Given the description of an element on the screen output the (x, y) to click on. 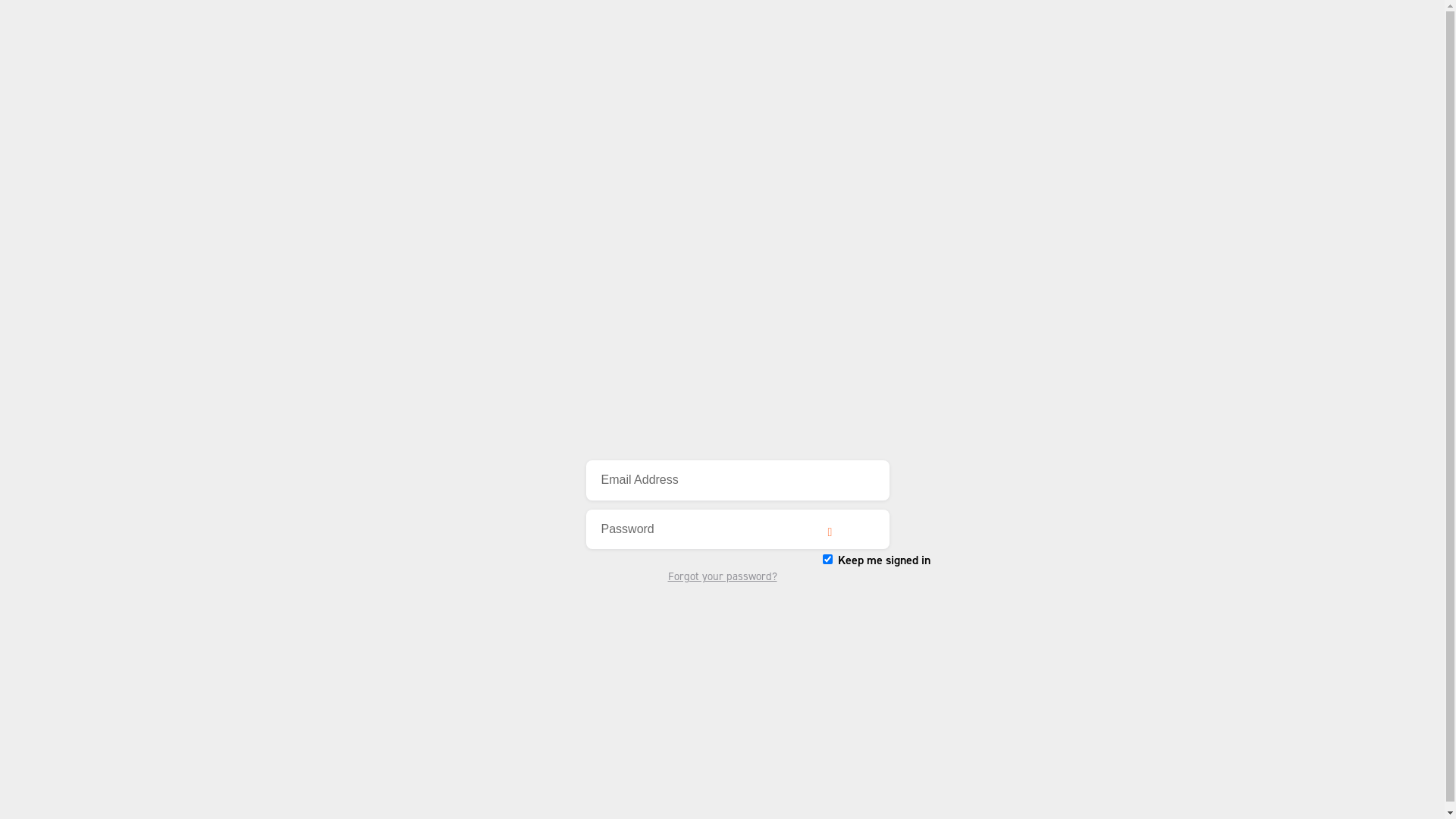
Get Started Element type: text (721, 375)
Sign In Element type: text (721, 610)
Get Started Element type: text (618, 633)
Please enter a valid Email Address Element type: hover (736, 480)
Forgot your password? Element type: text (721, 575)
